Given the description of an element on the screen output the (x, y) to click on. 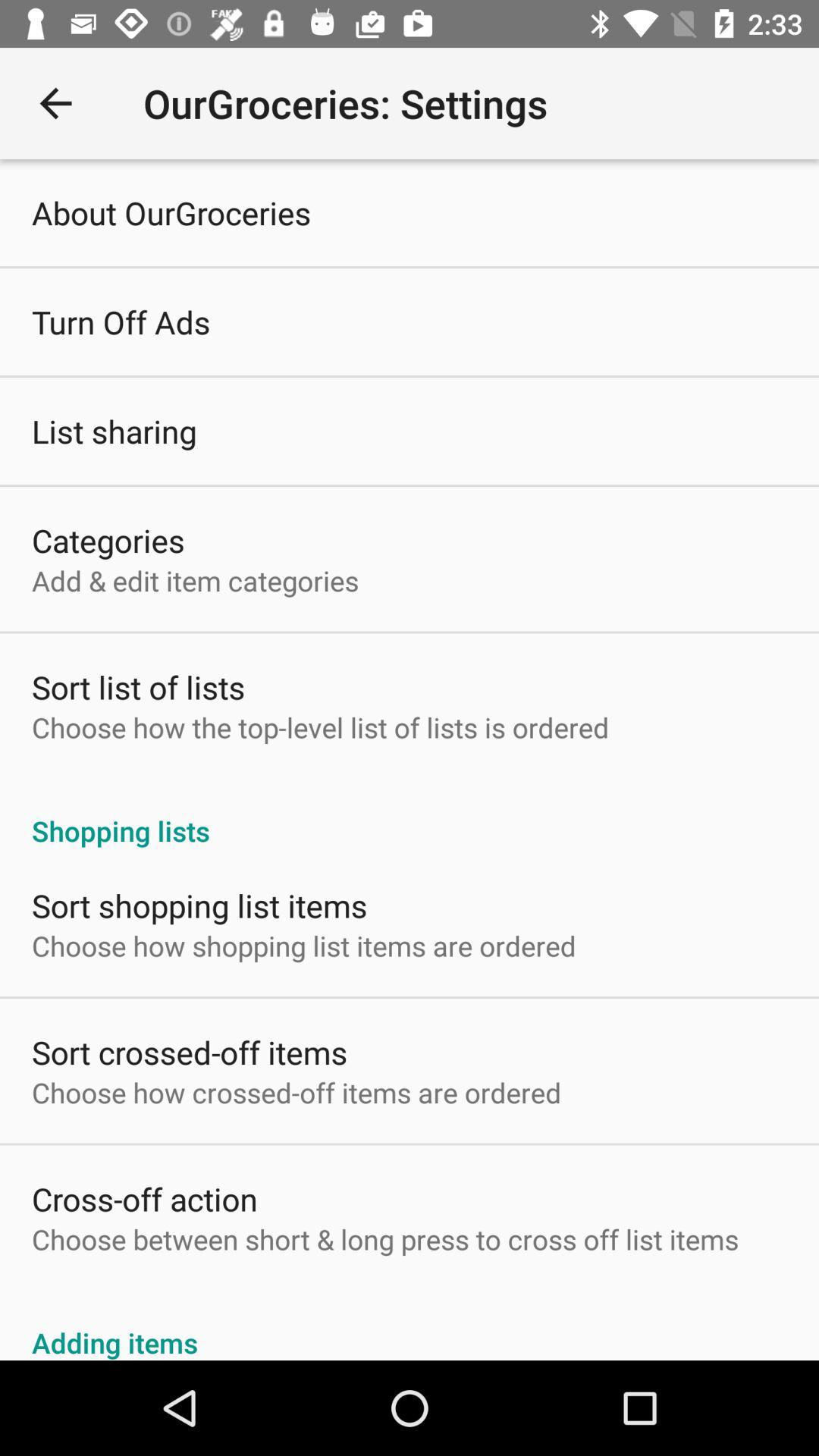
turn on icon above the categories (113, 430)
